Given the description of an element on the screen output the (x, y) to click on. 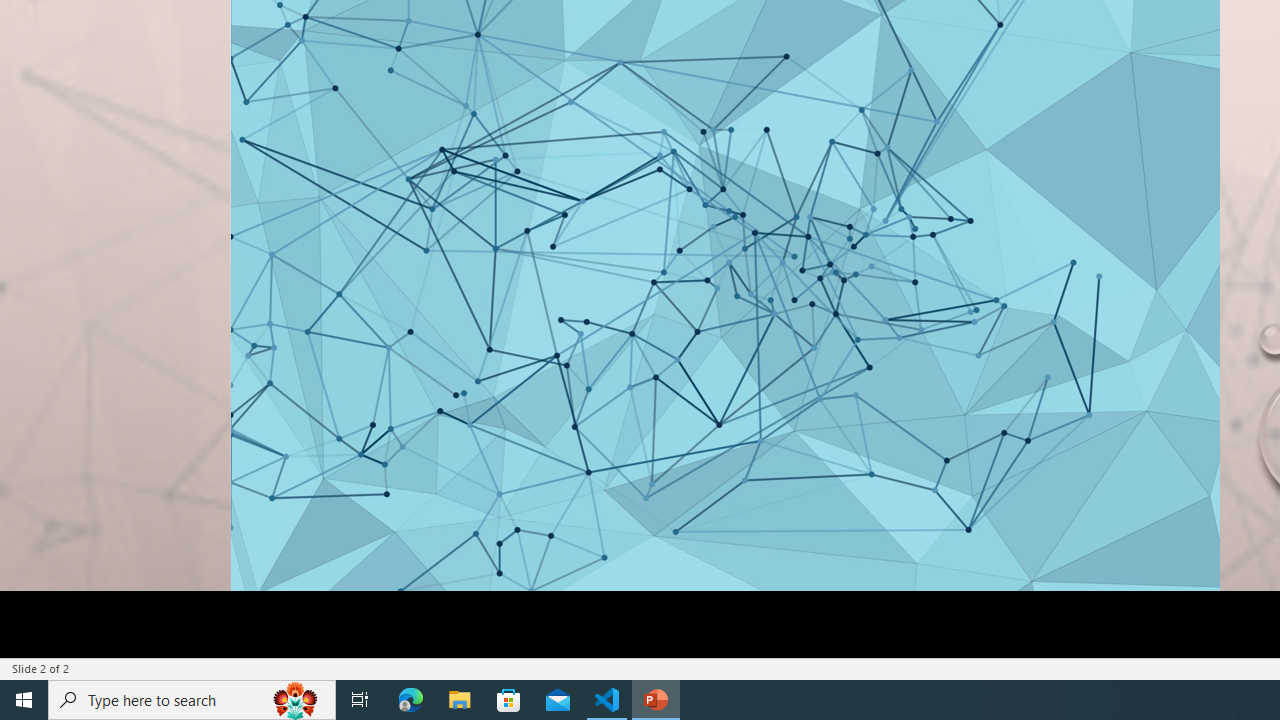
Microsoft Edge (411, 699)
